Given the description of an element on the screen output the (x, y) to click on. 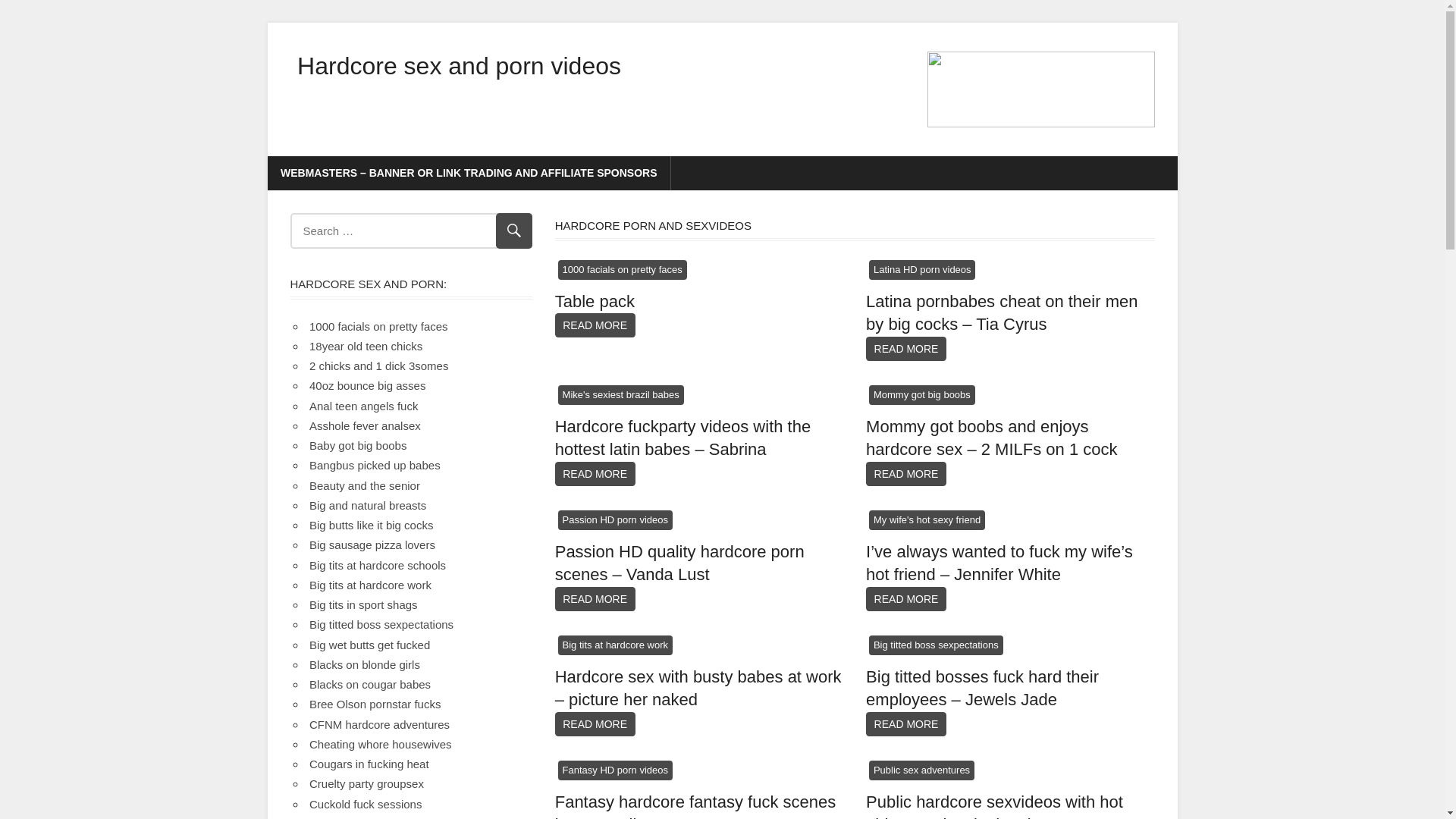
40oz bounce big asses Element type: text (367, 385)
Big tits at hardcore work Element type: text (370, 584)
READ MORE Element type: text (595, 325)
Anal teen angels fuck Element type: text (363, 404)
Search for: Element type: hover (410, 230)
Table pack Element type: text (594, 300)
Latina HD porn videos Element type: text (922, 270)
Mike's sexiest brazil babes Element type: text (621, 395)
Big butts like it big cocks Element type: text (371, 524)
READ MORE Element type: text (595, 724)
1000 facials on pretty faces Element type: text (378, 326)
My wife's hot sexy friend Element type: text (927, 520)
Public sex adventures Element type: text (921, 770)
Passion HD porn videos Element type: text (615, 520)
Big tits in sport shags Element type: text (363, 604)
Big tits at hardcore schools Element type: text (377, 564)
18year old teen chicks Element type: text (365, 345)
Big tits at hardcore work Element type: text (615, 645)
READ MORE Element type: text (906, 348)
Baby got big boobs Element type: text (357, 445)
1000 facials on pretty faces Element type: text (622, 270)
READ MORE Element type: text (595, 473)
Big and natural breasts Element type: text (367, 504)
Mommy got big boobs Element type: text (922, 395)
Asshole fever analsex Element type: text (364, 425)
Cruelty party groupsex Element type: text (366, 783)
Blacks on cougar babes Element type: text (369, 683)
Fantasy HD porn videos Element type: text (615, 770)
Big wet butts get fucked Element type: text (369, 644)
Cougars in fucking heat Element type: text (369, 763)
Bree Olson pornstar fucks Element type: text (374, 703)
READ MORE Element type: text (906, 473)
Big sausage pizza lovers Element type: text (372, 544)
2 chicks and 1 dick 3somes Element type: text (378, 365)
Beauty and the senior Element type: text (364, 485)
Big titted boss sexpectations Element type: text (381, 624)
Skip to content Element type: text (266, 22)
Big titted boss sexpectations Element type: text (935, 645)
Cuckold fuck sessions Element type: text (365, 803)
READ MORE Element type: text (906, 598)
READ MORE Element type: text (906, 724)
Blacks on blonde girls Element type: text (364, 664)
Hardcore sex and porn videos Element type: text (459, 65)
Bangbus picked up babes Element type: text (374, 464)
CFNM hardcore adventures Element type: text (379, 723)
Cheating whore housewives Element type: text (380, 743)
READ MORE Element type: text (595, 598)
